Given the description of an element on the screen output the (x, y) to click on. 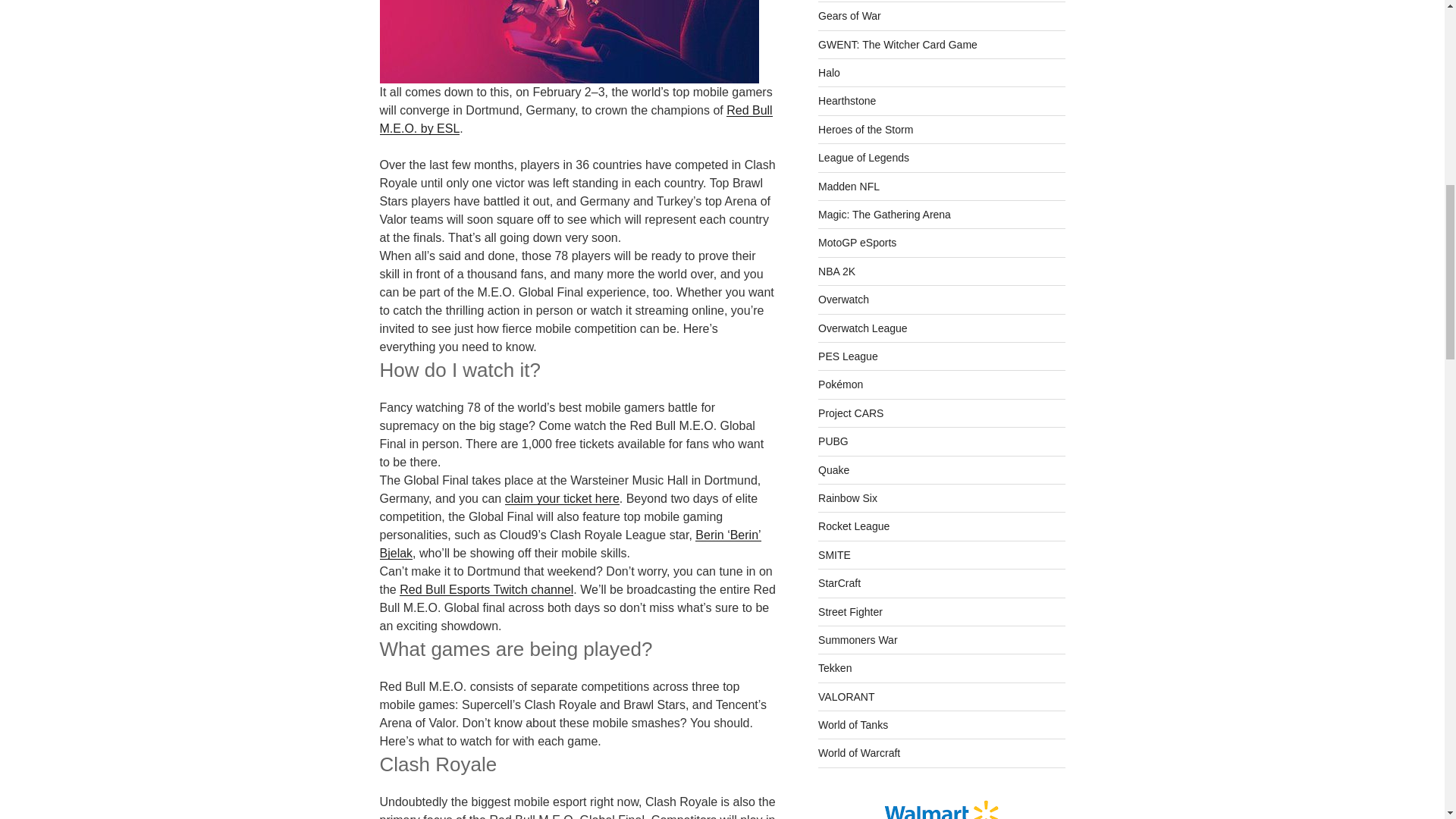
Red Bull Esports Twitch channel (485, 589)
Berin 'Berin' Bjelak (569, 543)
Red Bull M.E.O. by ESL (574, 119)
claim your ticket here (562, 498)
Red Bull Esports Twitch channel (485, 589)
claim your ticket here (562, 498)
Red Bull M.E.O. by ESL (574, 119)
